Given the description of an element on the screen output the (x, y) to click on. 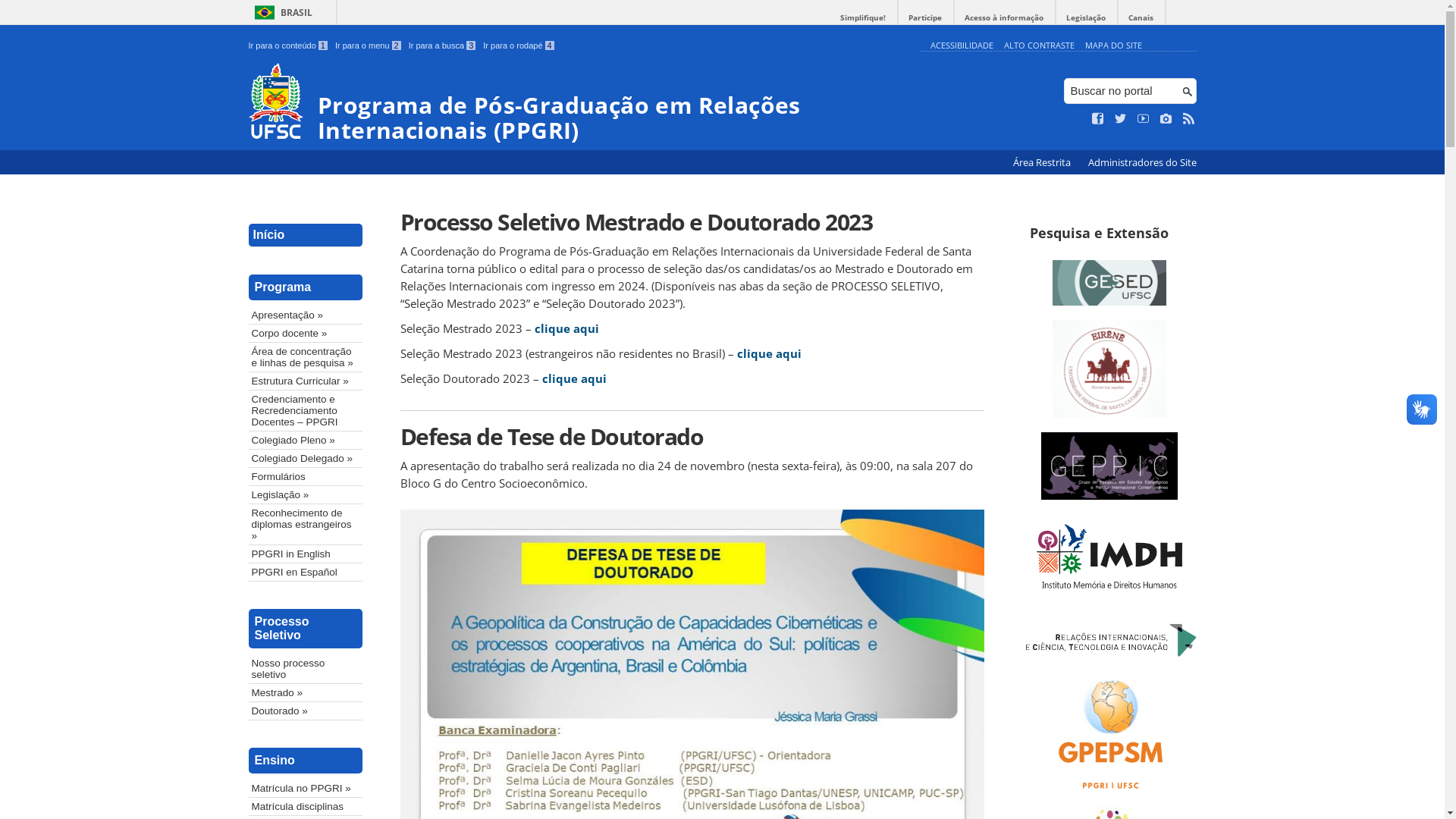
clique aqui Element type: text (573, 377)
Simplifique! Element type: text (862, 18)
Canais Element type: text (1140, 18)
PPGRI in English Element type: text (305, 553)
ACESSIBILIDADE Element type: text (960, 44)
Ir para a busca 3 Element type: text (442, 45)
Processo Seletivo Mestrado e Doutorado 2023 Element type: text (692, 221)
Participe Element type: text (924, 18)
Ir para o menu 2 Element type: text (368, 45)
clique aqui Element type: text (565, 327)
MAPA DO SITE Element type: text (1112, 44)
Veja no Instagram Element type: hover (1166, 118)
Siga no Twitter Element type: hover (1120, 118)
clique aqui Element type: text (769, 352)
BRASIL Element type: text (280, 12)
ALTO CONTRASTE Element type: text (1039, 44)
Curta no Facebook Element type: hover (1098, 118)
Administradores do Site Element type: text (1141, 162)
Defesa de Tese de Doutorado Element type: text (692, 436)
Nosso processo seletivo Element type: text (305, 668)
